Given the description of an element on the screen output the (x, y) to click on. 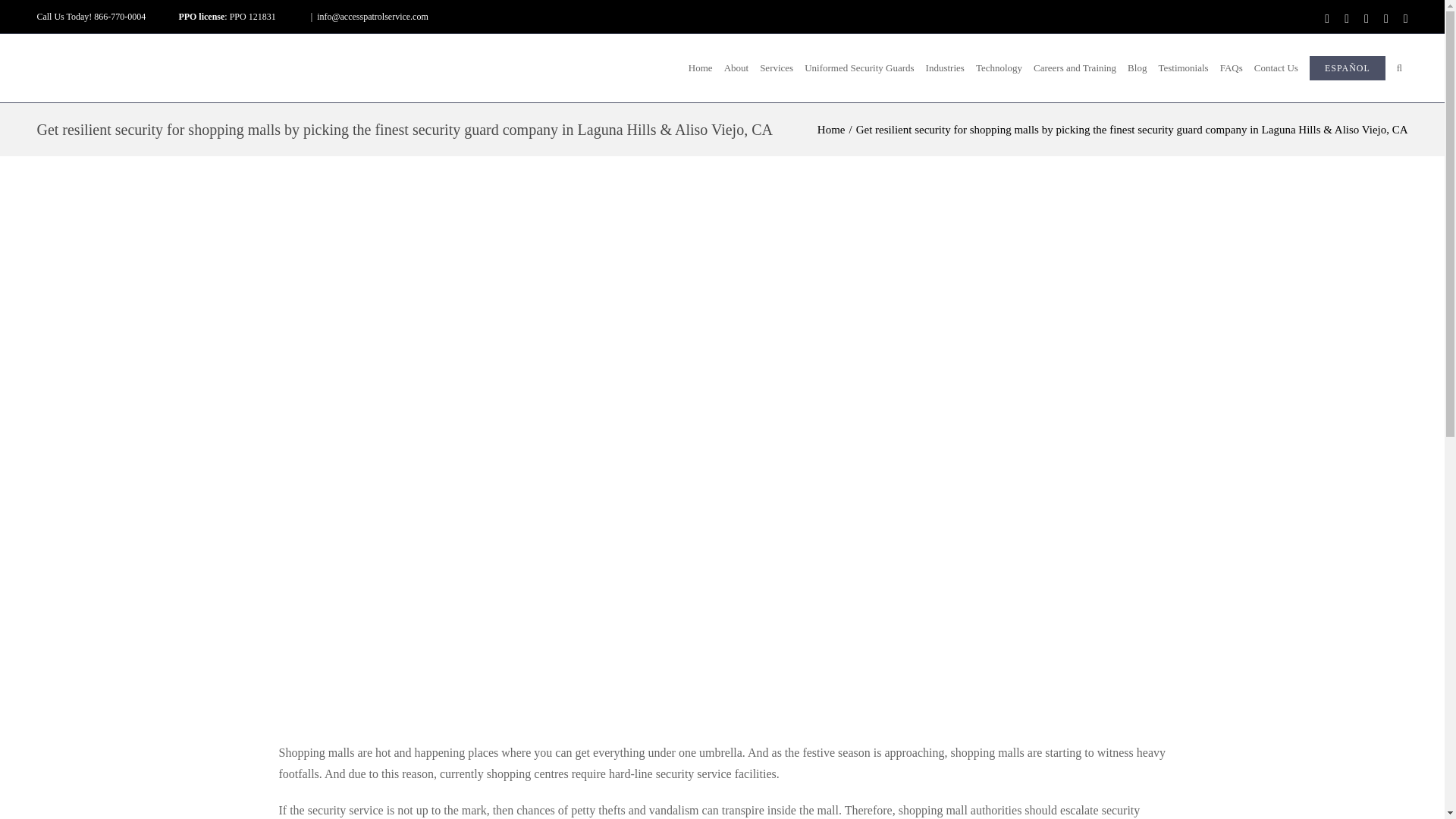
Testimonials (1183, 68)
Call Us Today! 866-770-0004 (90, 16)
Technology (998, 68)
Careers and Training (1074, 68)
Industries (944, 68)
Contact Us (1275, 68)
Uniformed Security Guards (859, 68)
